Given the description of an element on the screen output the (x, y) to click on. 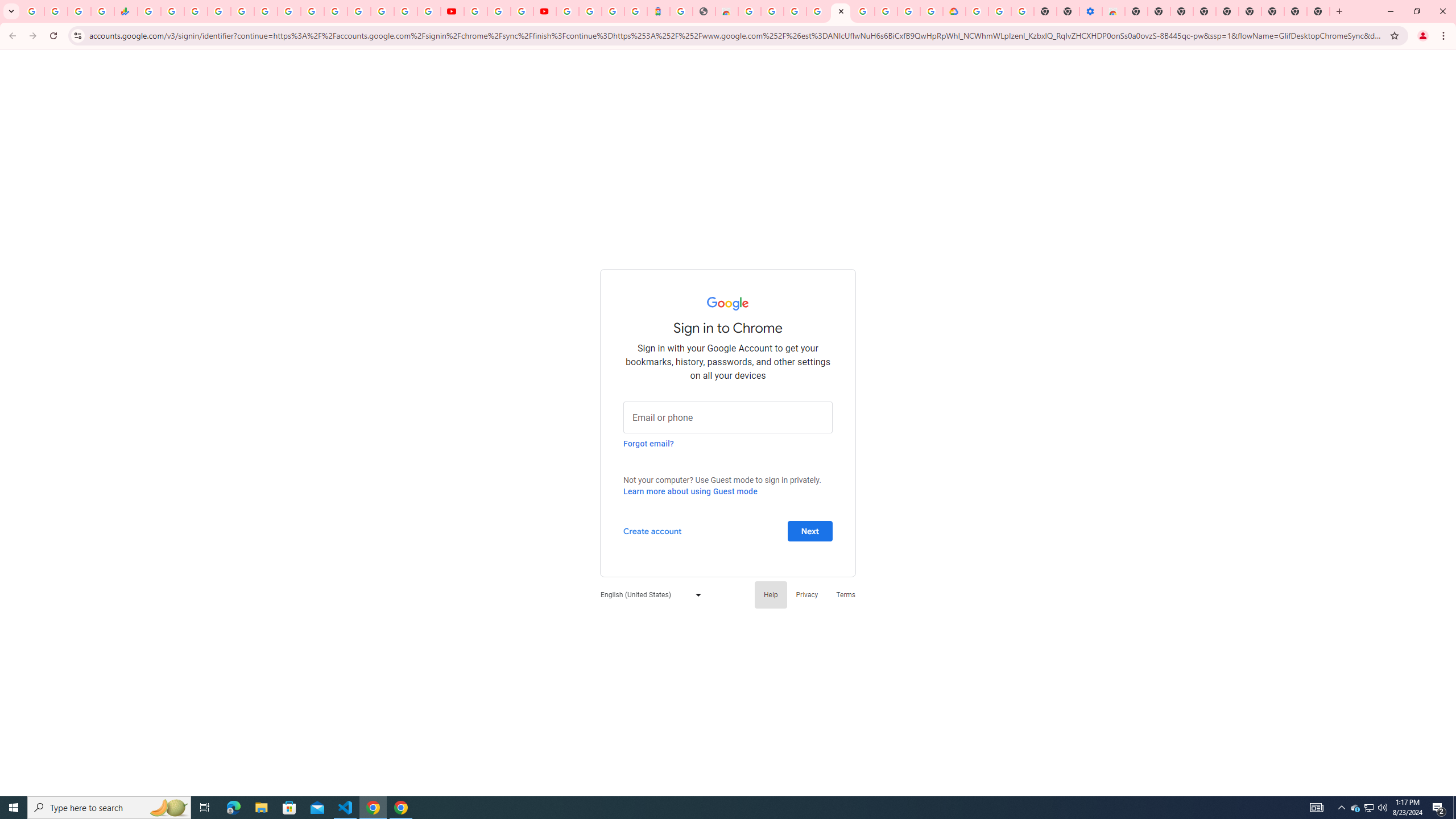
New Tab (1318, 11)
Email or phone (727, 416)
YouTube (475, 11)
Sign in - Google Accounts (335, 11)
Atour Hotel - Google hotels (658, 11)
Create your Google Account (909, 11)
Android TV Policies and Guidelines - Transparency Center (288, 11)
Sign in - Google Accounts (567, 11)
